Given the description of an element on the screen output the (x, y) to click on. 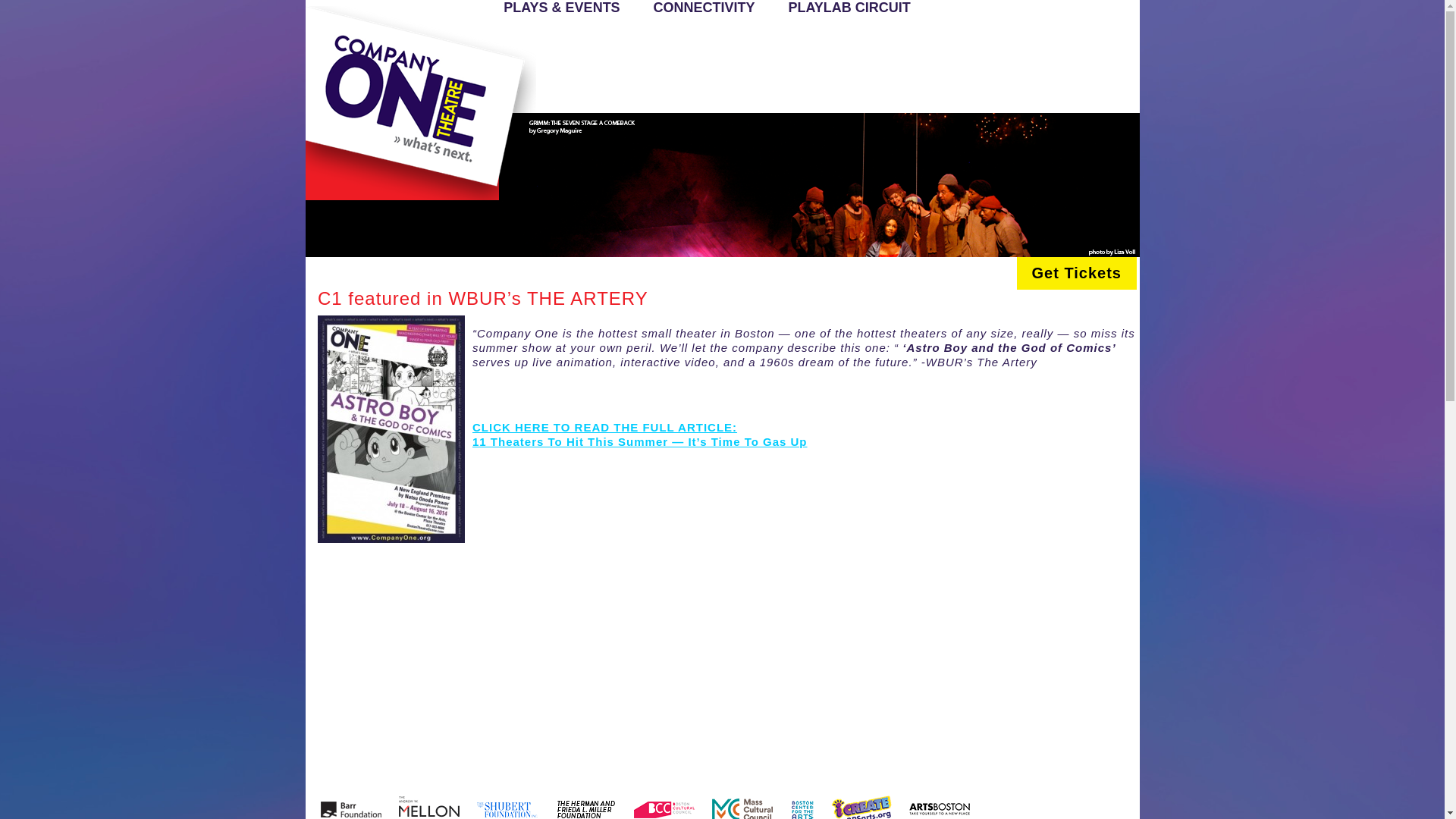
shubert foundation logo -sm (499, 808)
iCreate-logo-purple-blue-sm (853, 808)
ACTS OF JOY (458, 44)
Mellon-Logo-Sm (422, 808)
CHECKOUT (809, 44)
MY ACCOUNT (460, 67)
25TH ANNIVERSARY BENEFIT FOR COMPANY ONE (515, 44)
mcc-sm (735, 808)
ONE NIGHT FOR C1 (511, 67)
HOOPS (1055, 44)
